Given the description of an element on the screen output the (x, y) to click on. 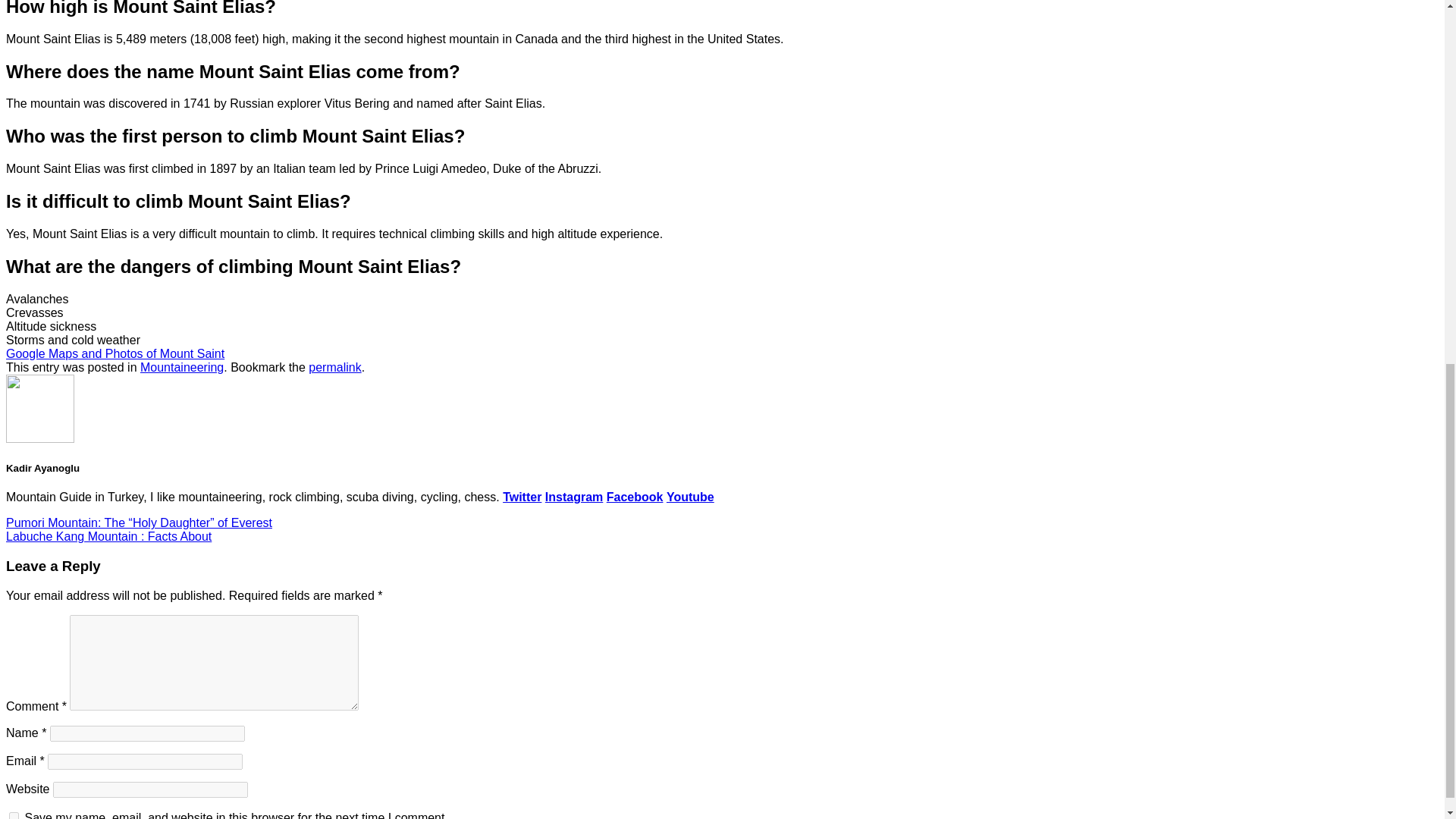
Mountaineering (181, 367)
Google Maps and Photos of Mount Saint (114, 353)
